Given the description of an element on the screen output the (x, y) to click on. 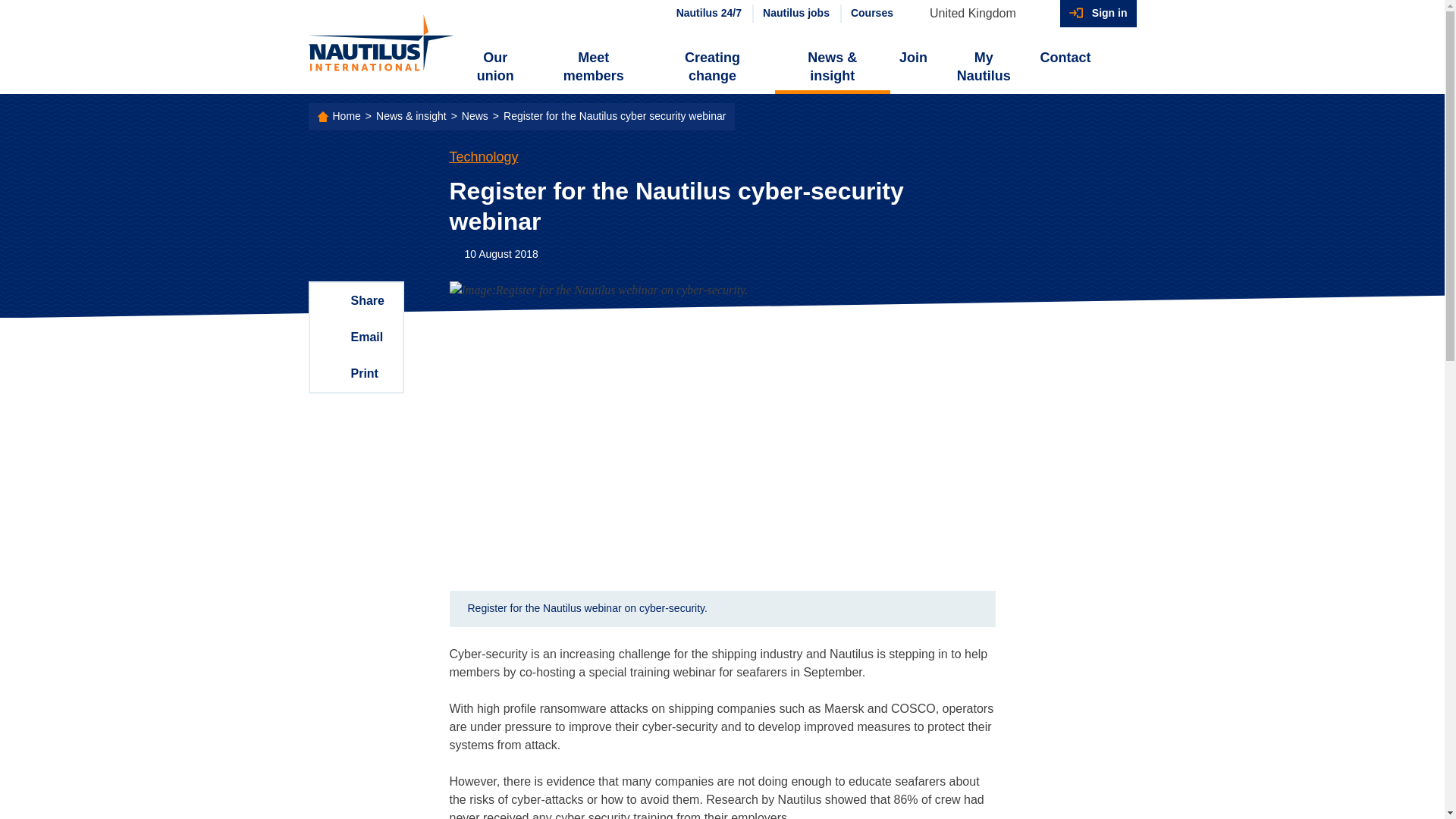
Contact (1065, 58)
Courses (871, 13)
Our union (495, 67)
Join (912, 58)
United Kingdom (979, 13)
Sign in (1098, 13)
My Nautilus (983, 67)
Creating change (711, 67)
Nautilus jobs (795, 13)
